Given the description of an element on the screen output the (x, y) to click on. 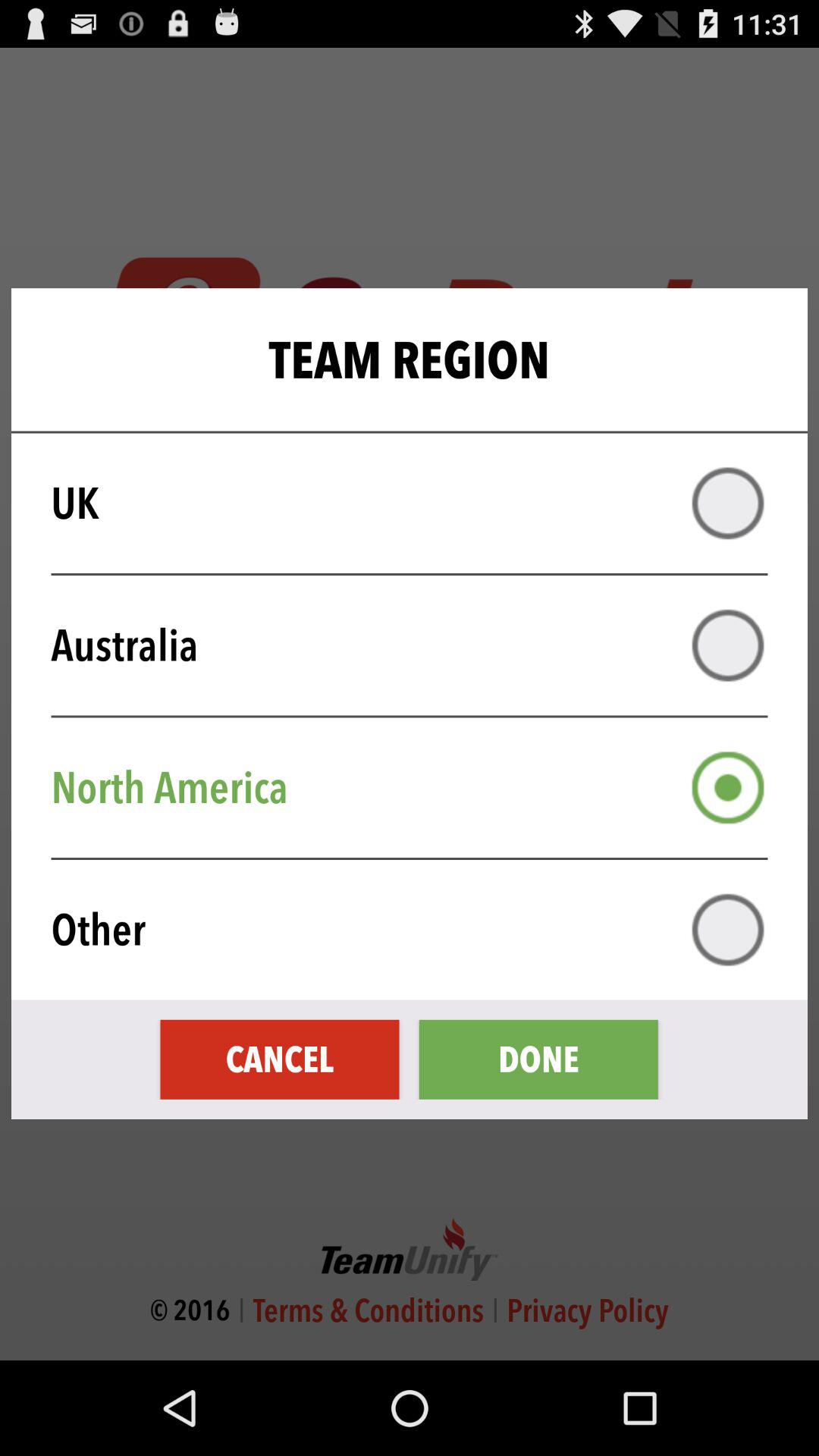
turn off north america item (419, 787)
